Given the description of an element on the screen output the (x, y) to click on. 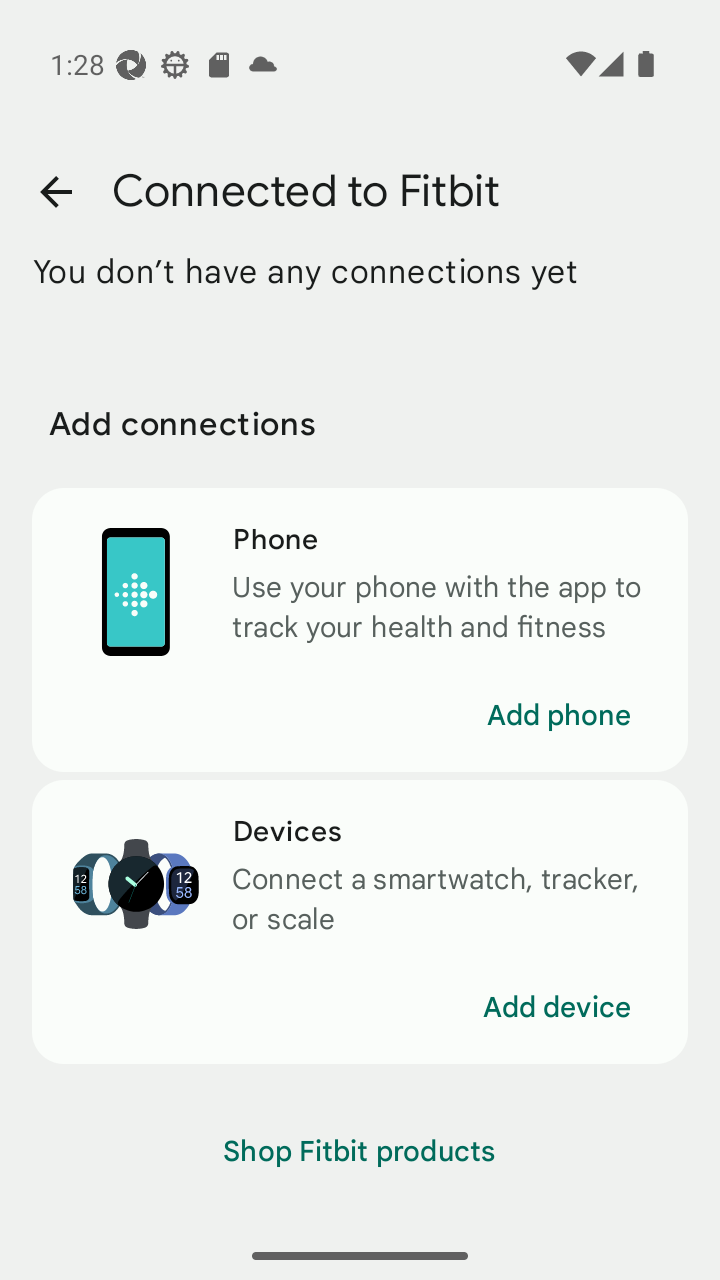
Go back (55, 191)
Add phone (558, 716)
Add device (557, 1008)
Shop Fitbit products (359, 1151)
